Given the description of an element on the screen output the (x, y) to click on. 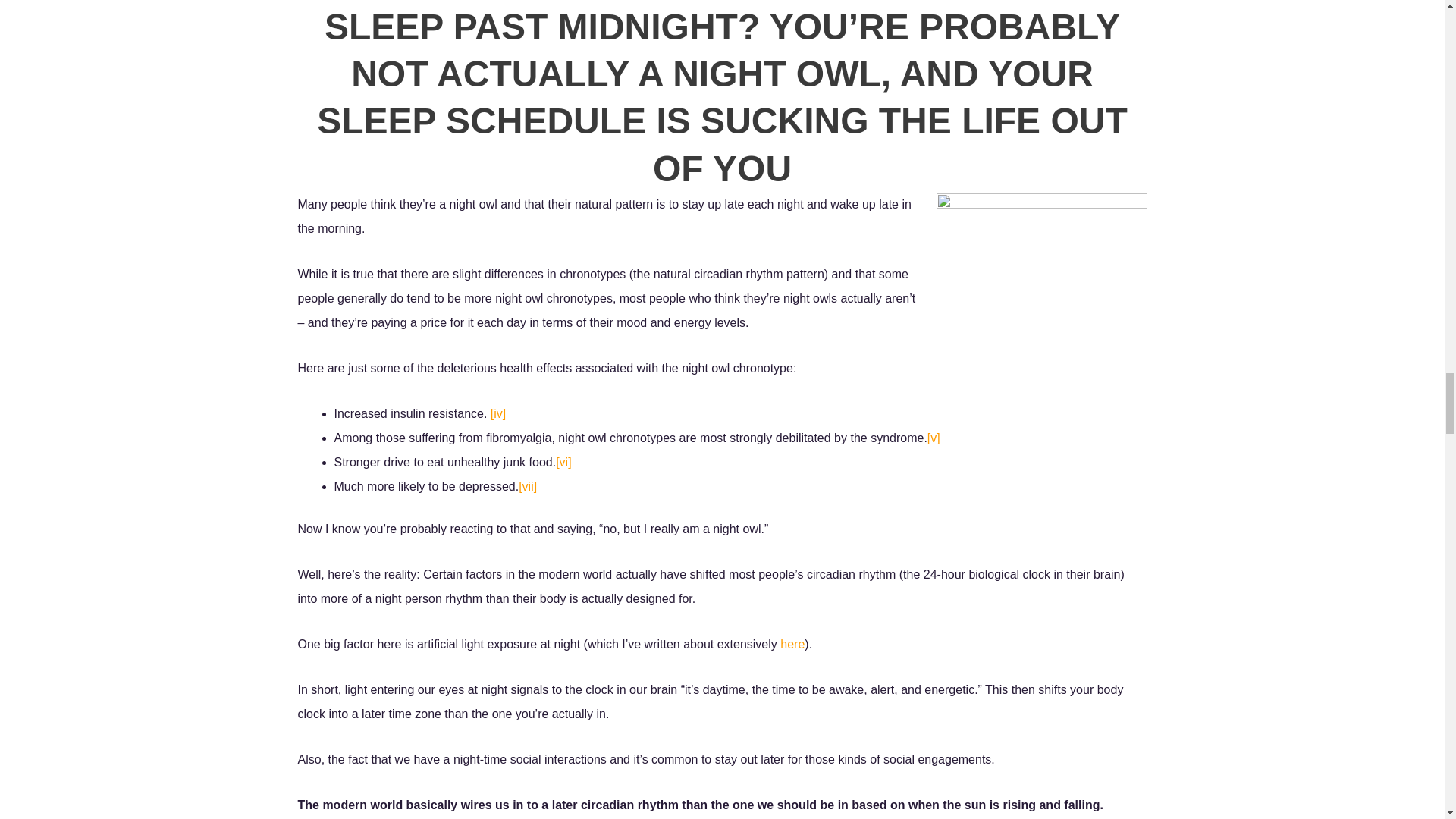
here (792, 658)
